Given the description of an element on the screen output the (x, y) to click on. 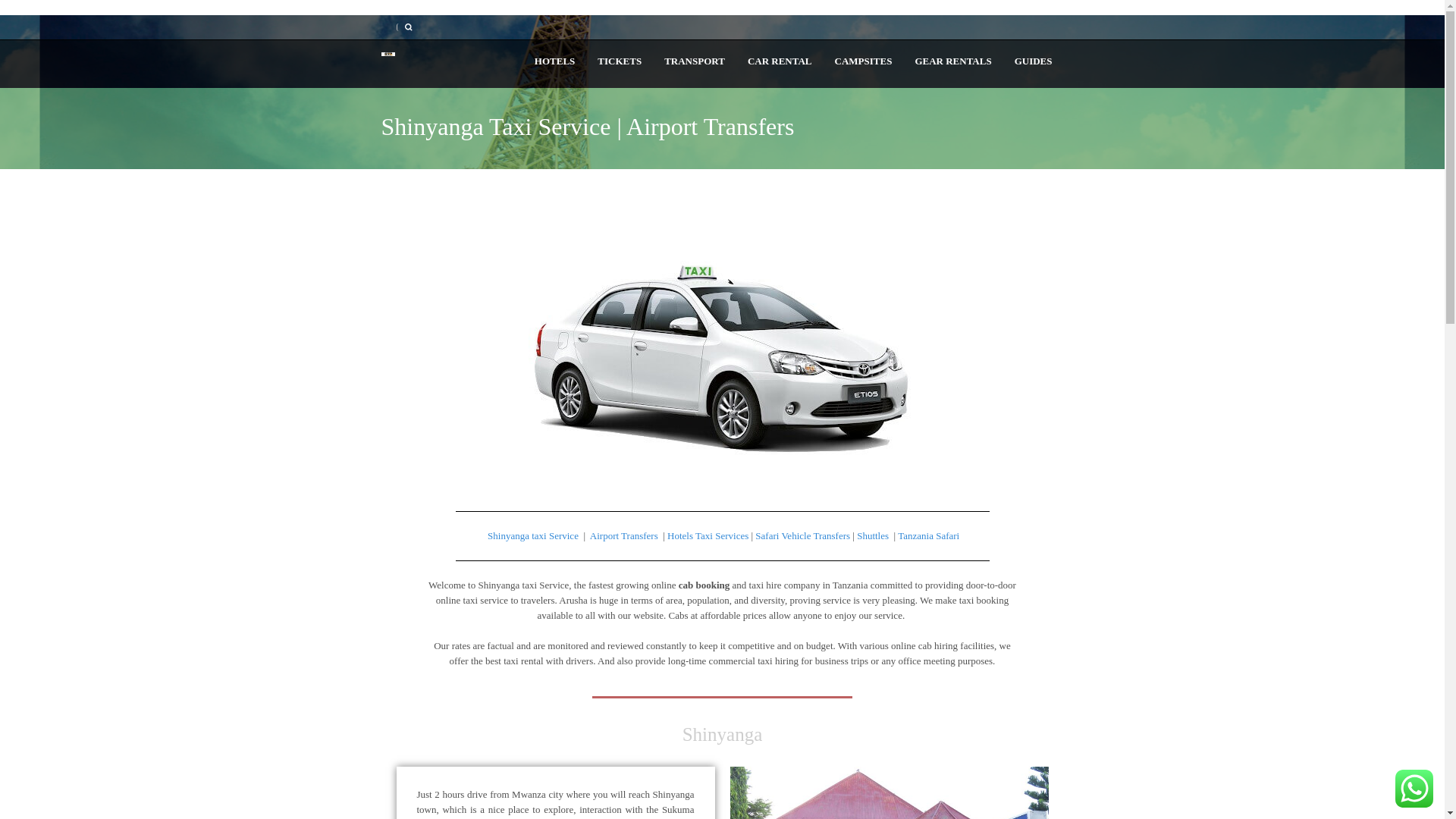
Hotels Taxi Services (707, 535)
TICKETS (619, 61)
Safari Vehicle Transfers (802, 535)
CAR RENTAL (780, 61)
GEAR RENTALS (952, 61)
HOTELS (554, 61)
Tanzania Safari (928, 535)
Airport Transfers  (625, 535)
TRANSPORT (694, 61)
Shuttles (872, 535)
GUIDES (1033, 61)
CAMPSITES (864, 61)
 Shinyanga taxi Service (531, 535)
